Given the description of an element on the screen output the (x, y) to click on. 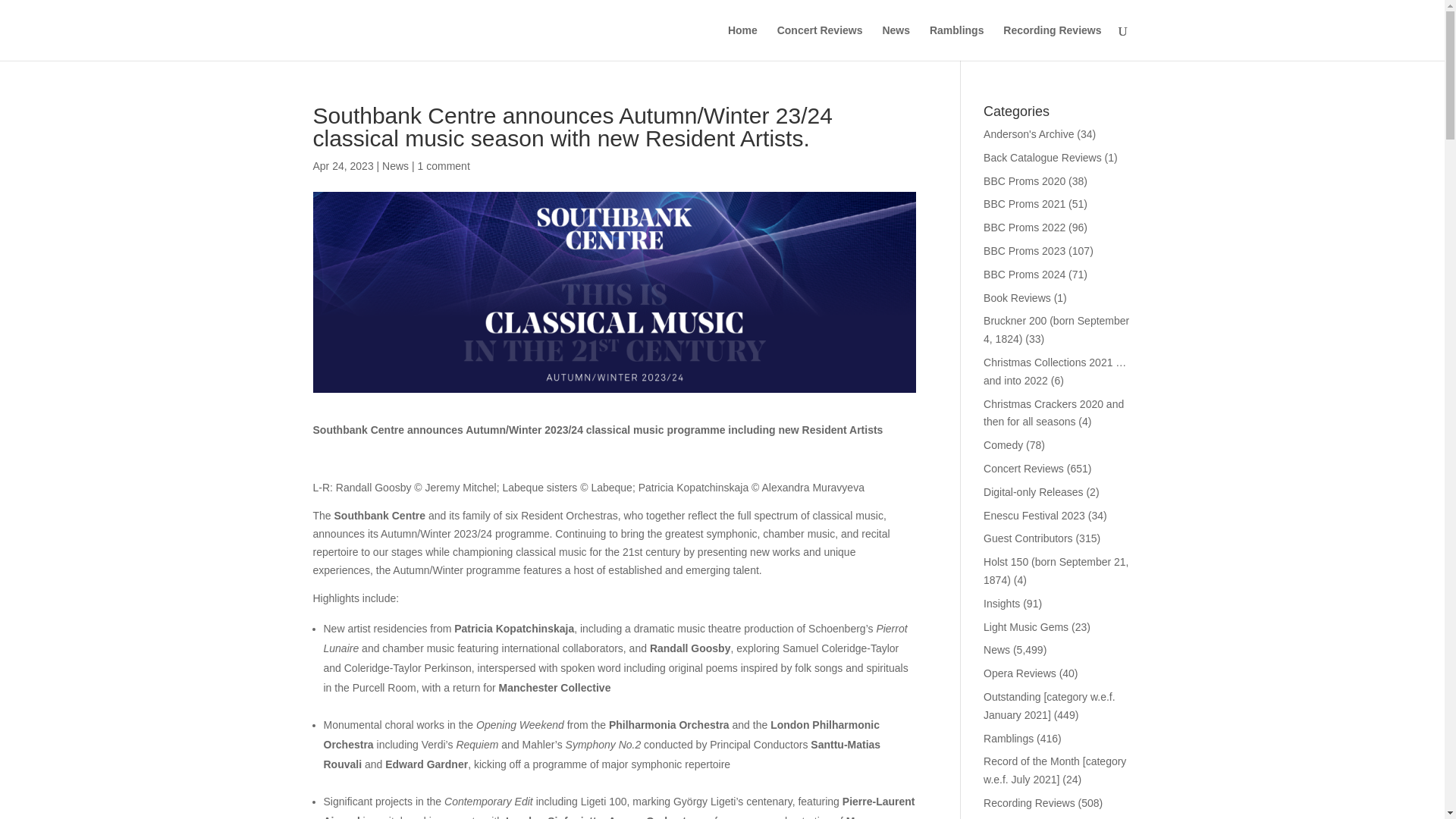
Christmas Crackers 2020 and then for all seasons (1054, 413)
Concert Reviews (820, 42)
BBC Proms 2021 (1024, 203)
Light Music Gems (1026, 626)
Ramblings (957, 42)
News (997, 649)
BBC Proms 2024 (1024, 274)
Ramblings (1008, 738)
Digital-only Releases (1033, 491)
News (395, 165)
